Given the description of an element on the screen output the (x, y) to click on. 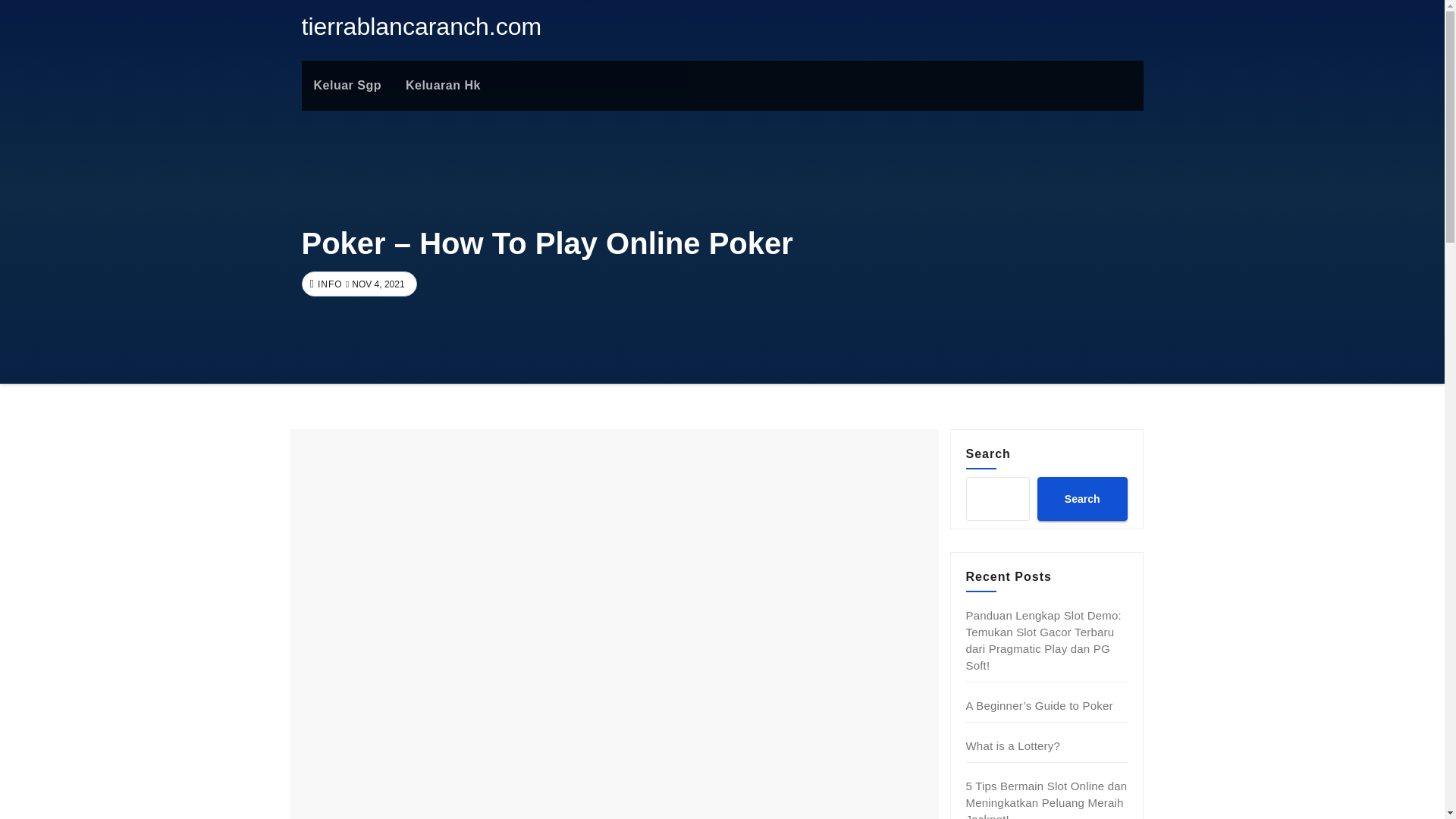
Search (1081, 498)
keluar sgp (347, 85)
tierrablancaranch.com (421, 26)
Keluar Sgp (347, 85)
INFO (328, 284)
Keluaran Hk (443, 85)
What is a Lottery? (1013, 745)
Keluaran Hk (443, 85)
